Given the description of an element on the screen output the (x, y) to click on. 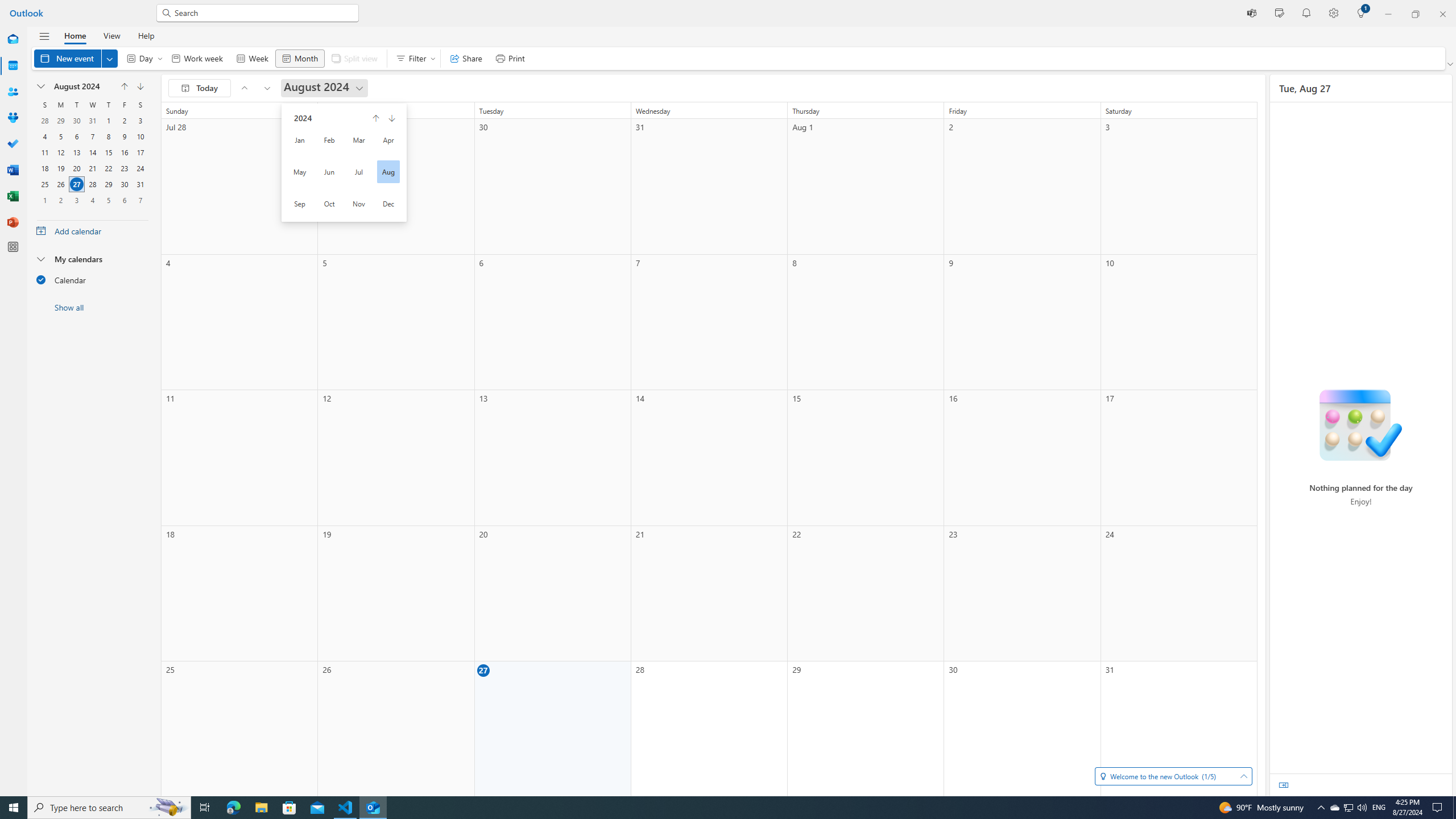
Print (510, 58)
8, August, 2024 (108, 136)
My calendars (92, 258)
3, September, 2024 (76, 200)
16, August, 2024 (124, 151)
Mail (12, 39)
7, August, 2024 (92, 136)
More apps (12, 246)
17, August, 2024 (140, 151)
24, August, 2024 (140, 168)
31, August, 2024 (140, 183)
People (12, 92)
29, July, 2024 (60, 120)
